Given the description of an element on the screen output the (x, y) to click on. 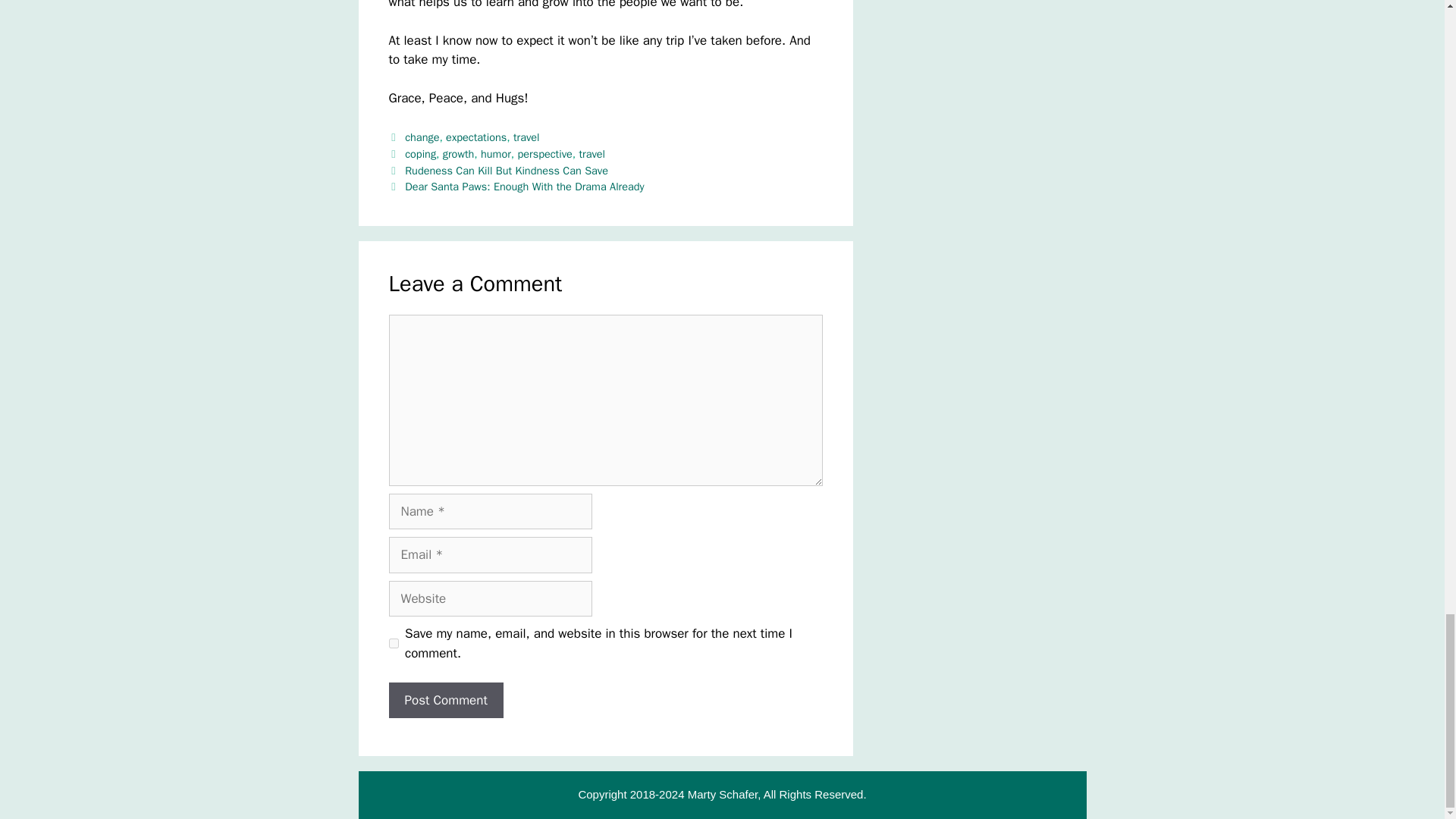
humor (495, 153)
Dear Santa Paws: Enough With the Drama Already (523, 186)
Post Comment (445, 700)
Rudeness Can Kill But Kindness Can Save (506, 170)
perspective (544, 153)
Post Comment (445, 700)
travel (591, 153)
coping (419, 153)
growth (458, 153)
change (421, 137)
